Given the description of an element on the screen output the (x, y) to click on. 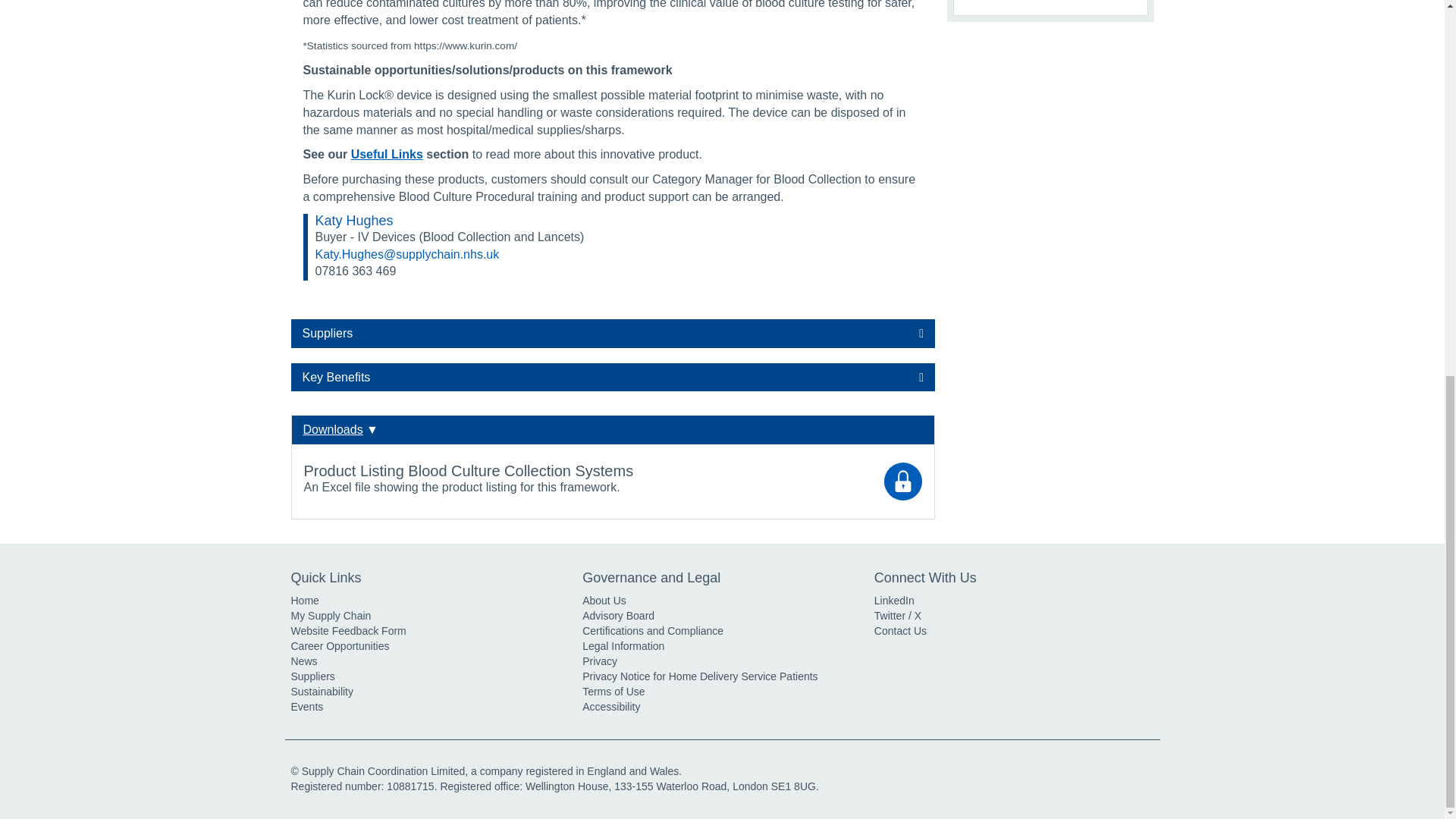
View Website Feedback Form (348, 630)
View Sustainability (322, 691)
View Career Opportunities (340, 645)
View Events (307, 706)
View My Supply Chain (331, 615)
Login to view the downloads (902, 481)
View Certifications and Compliance (652, 630)
View About Us (604, 600)
View News (304, 661)
View Legal Information (622, 645)
View Home (304, 600)
View Suppliers (312, 676)
View Privacy (599, 661)
View Advisory Board (617, 615)
